Given the description of an element on the screen output the (x, y) to click on. 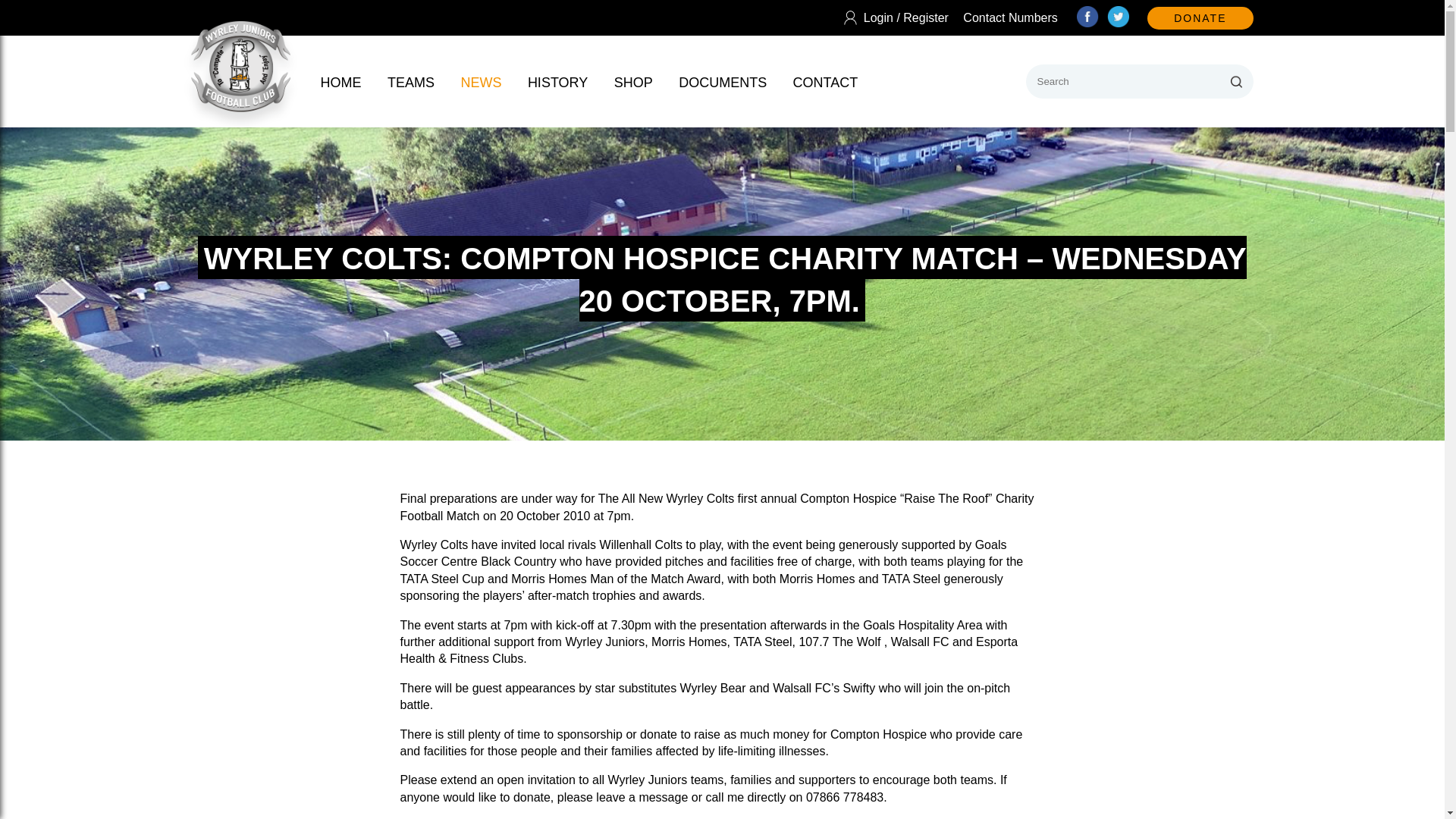
TEAMS (410, 82)
SHOP (633, 82)
Search (1235, 81)
CONTACT (826, 82)
HOME (340, 82)
DOCUMENTS (722, 82)
Search (1235, 81)
DONATE (1199, 17)
NEWS (480, 82)
HISTORY (557, 82)
Contact Numbers (1010, 17)
